Given the description of an element on the screen output the (x, y) to click on. 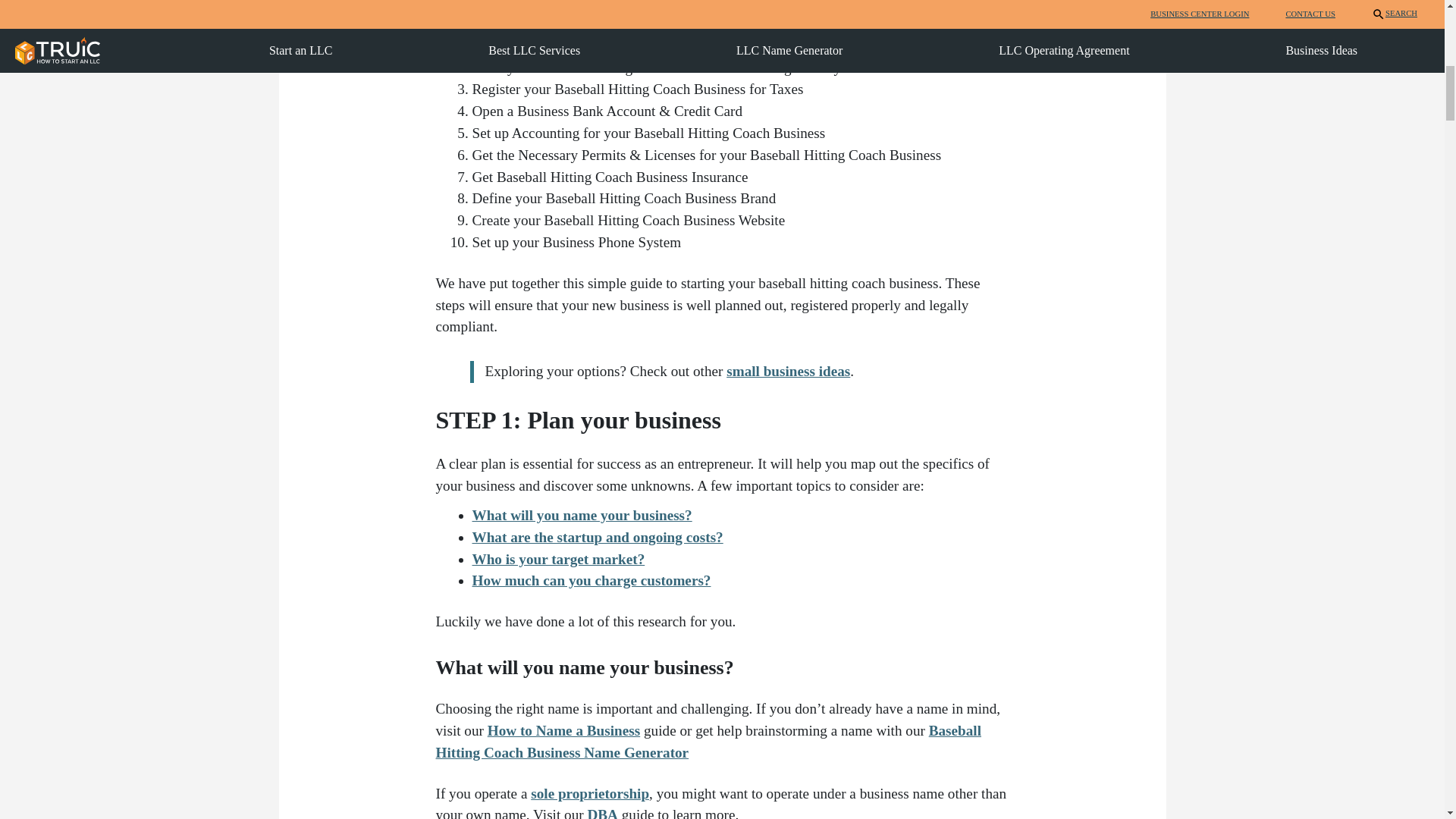
Small business ideas (788, 371)
small business ideas (788, 371)
How to Name a Business (563, 730)
What are the startup and ongoing costs? (596, 537)
What will you name your business? (581, 514)
How much can you charge customers? (590, 580)
Baseball Hitting Coach Business Name Generator (708, 741)
Who is your target market? (558, 559)
sole proprietorship (590, 793)
DBA (601, 812)
